Given the description of an element on the screen output the (x, y) to click on. 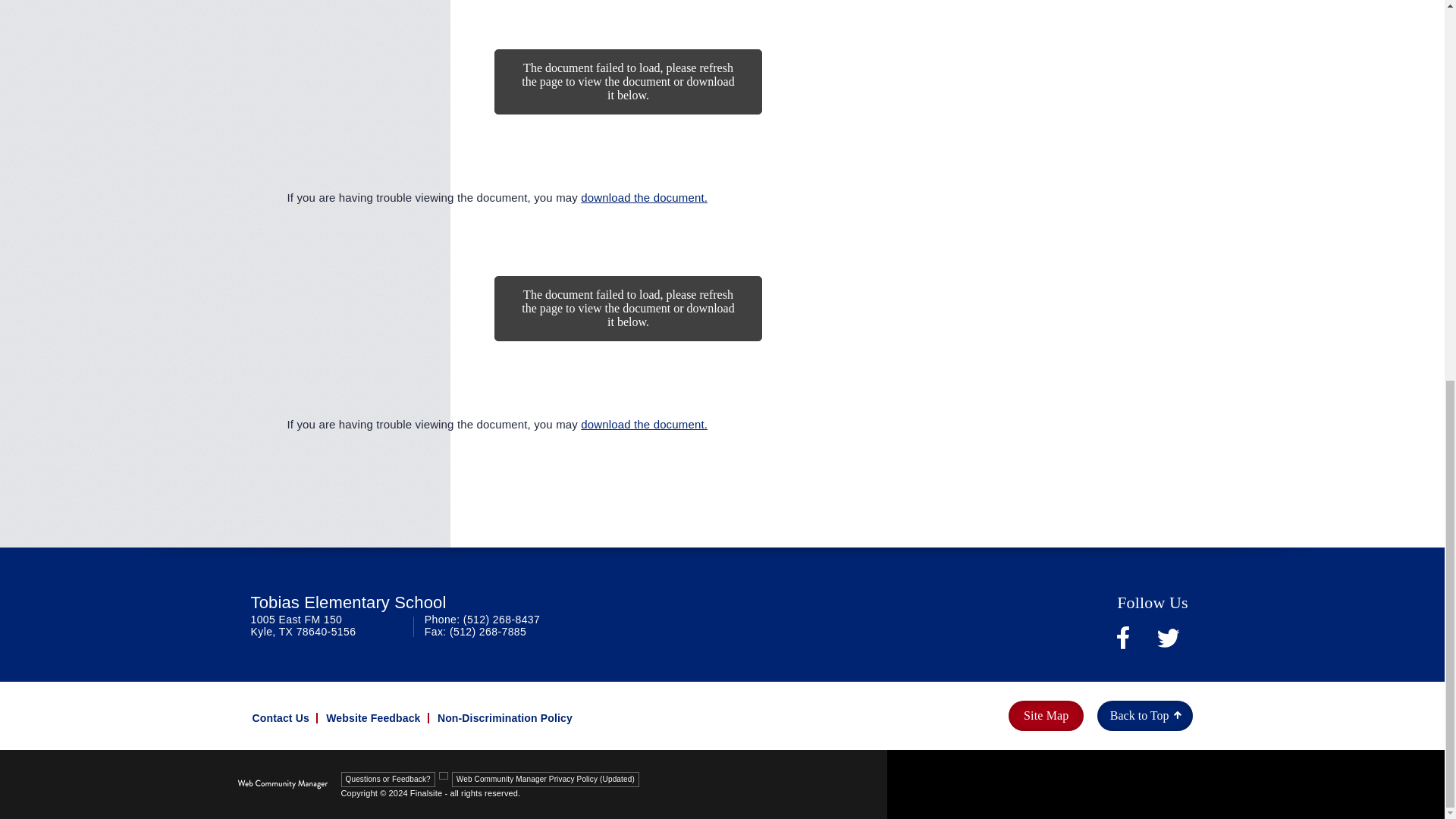
 - Document Viewer (627, 339)
Finalsite - all rights reserved (281, 784)
 - Document Viewer (627, 112)
